Given the description of an element on the screen output the (x, y) to click on. 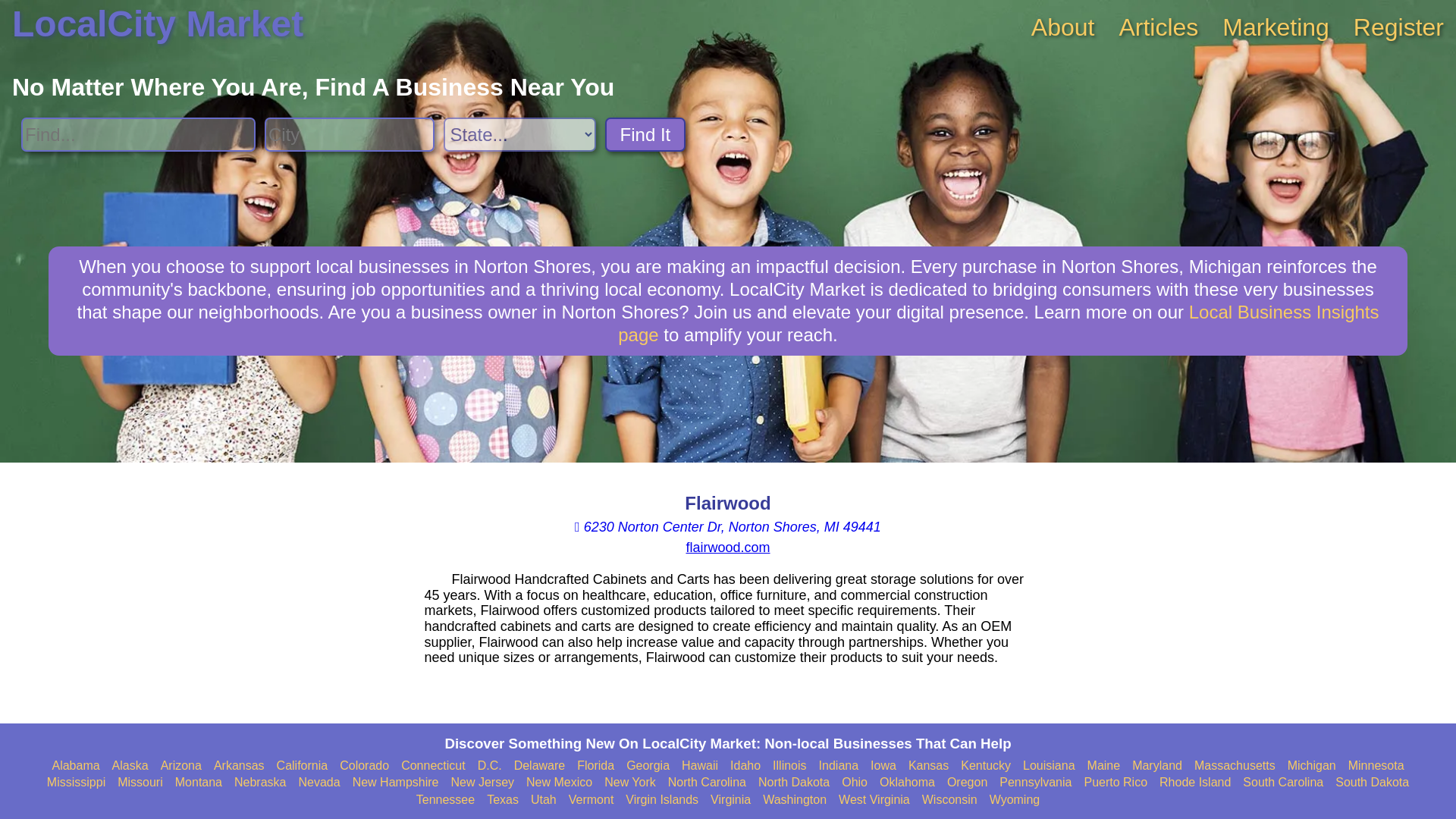
Articles (1158, 27)
Find Businesses in Hawaii (699, 766)
Find Businesses in California (302, 766)
Local Business Insights (997, 323)
New Hampshire (395, 782)
Massachusetts (1234, 766)
Articles (1158, 27)
Marketing (1276, 27)
Maine (1104, 766)
Indiana (838, 766)
